Given the description of an element on the screen output the (x, y) to click on. 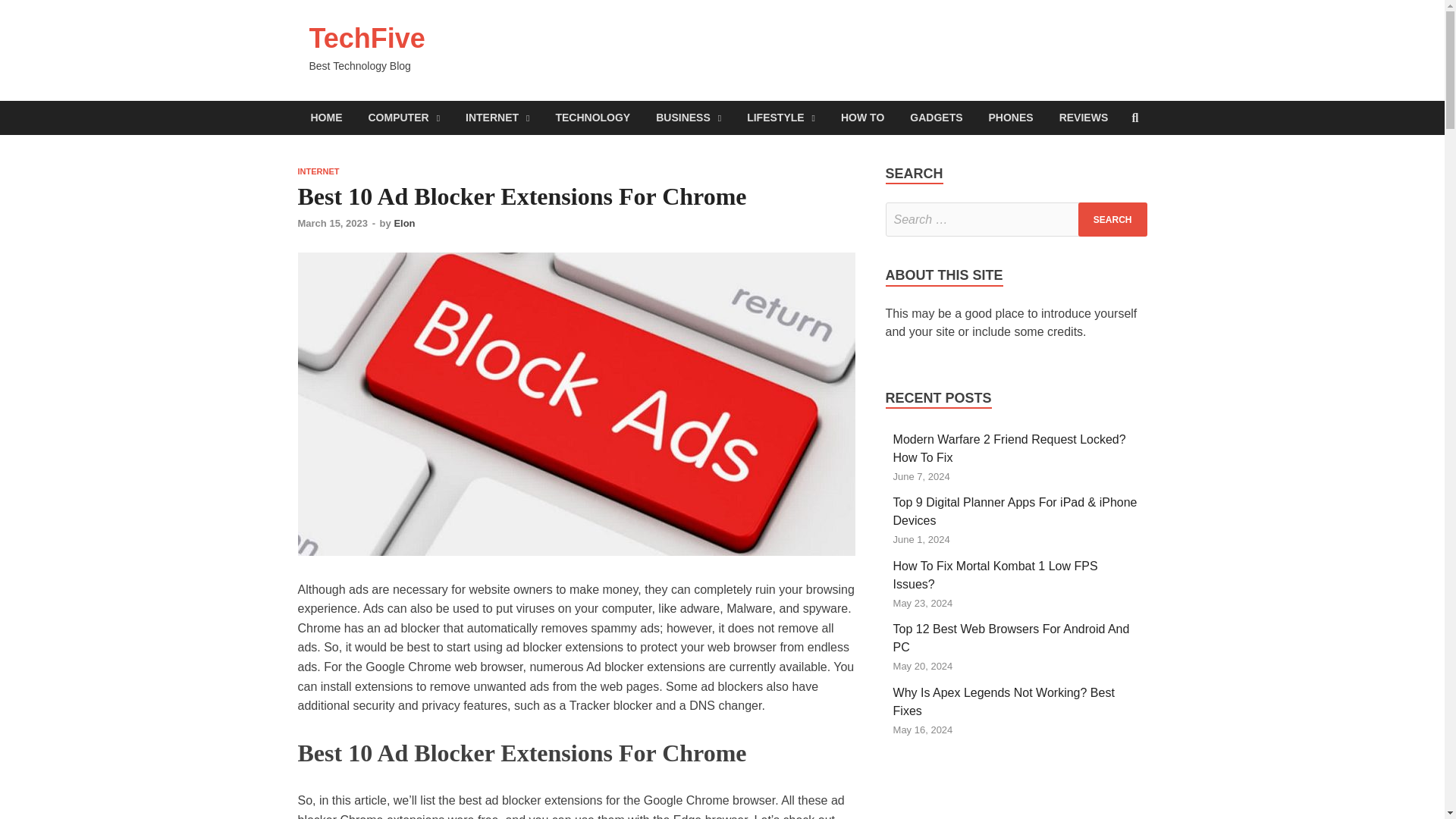
PHONES (1010, 117)
REVIEWS (1083, 117)
TECHNOLOGY (592, 117)
BUSINESS (688, 117)
INTERNET (318, 171)
COMPUTER (403, 117)
LIFESTYLE (780, 117)
GADGETS (935, 117)
March 15, 2023 (332, 223)
Elon (403, 223)
